Given the description of an element on the screen output the (x, y) to click on. 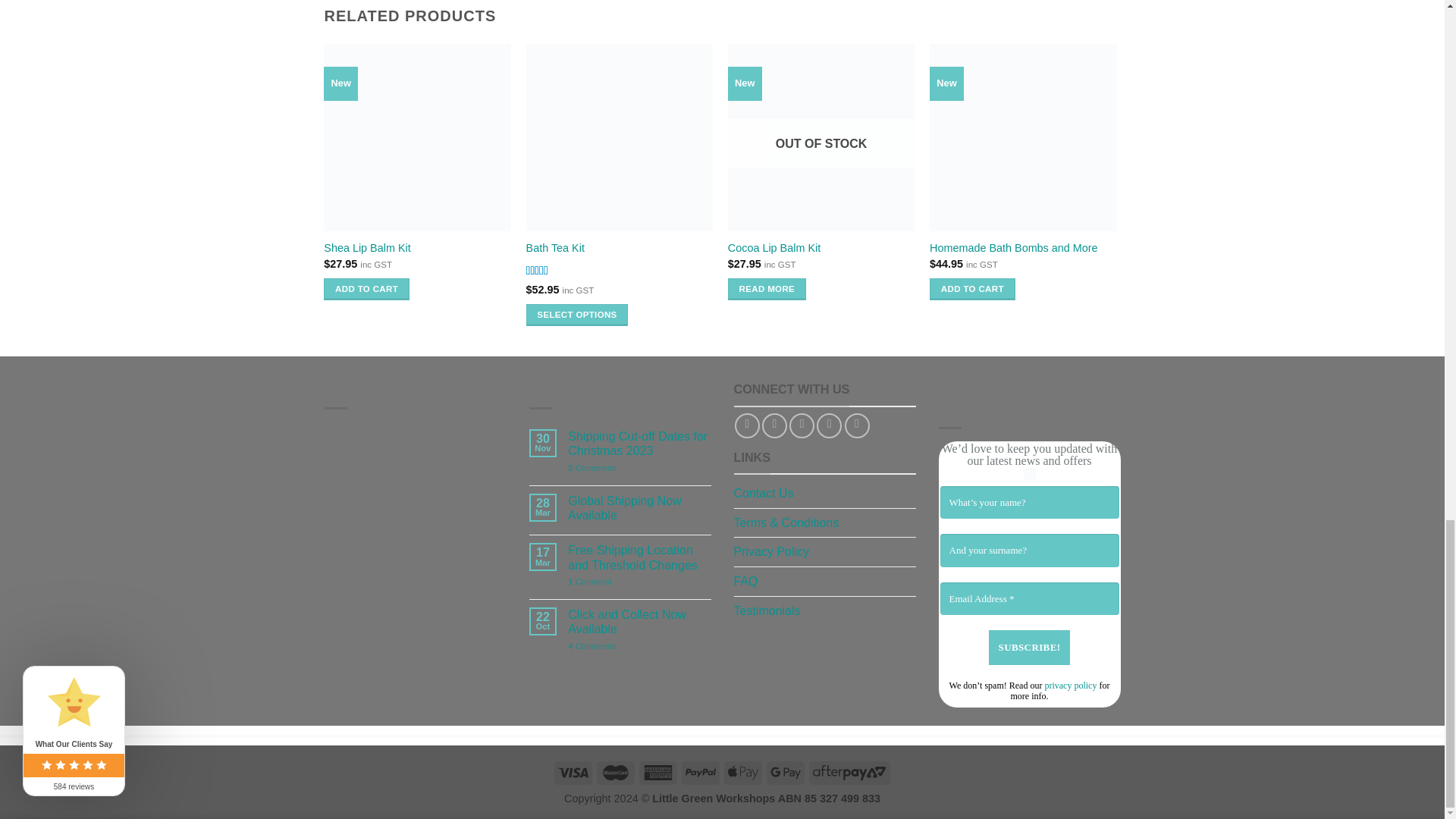
Subscribe! (1029, 647)
